Given the description of an element on the screen output the (x, y) to click on. 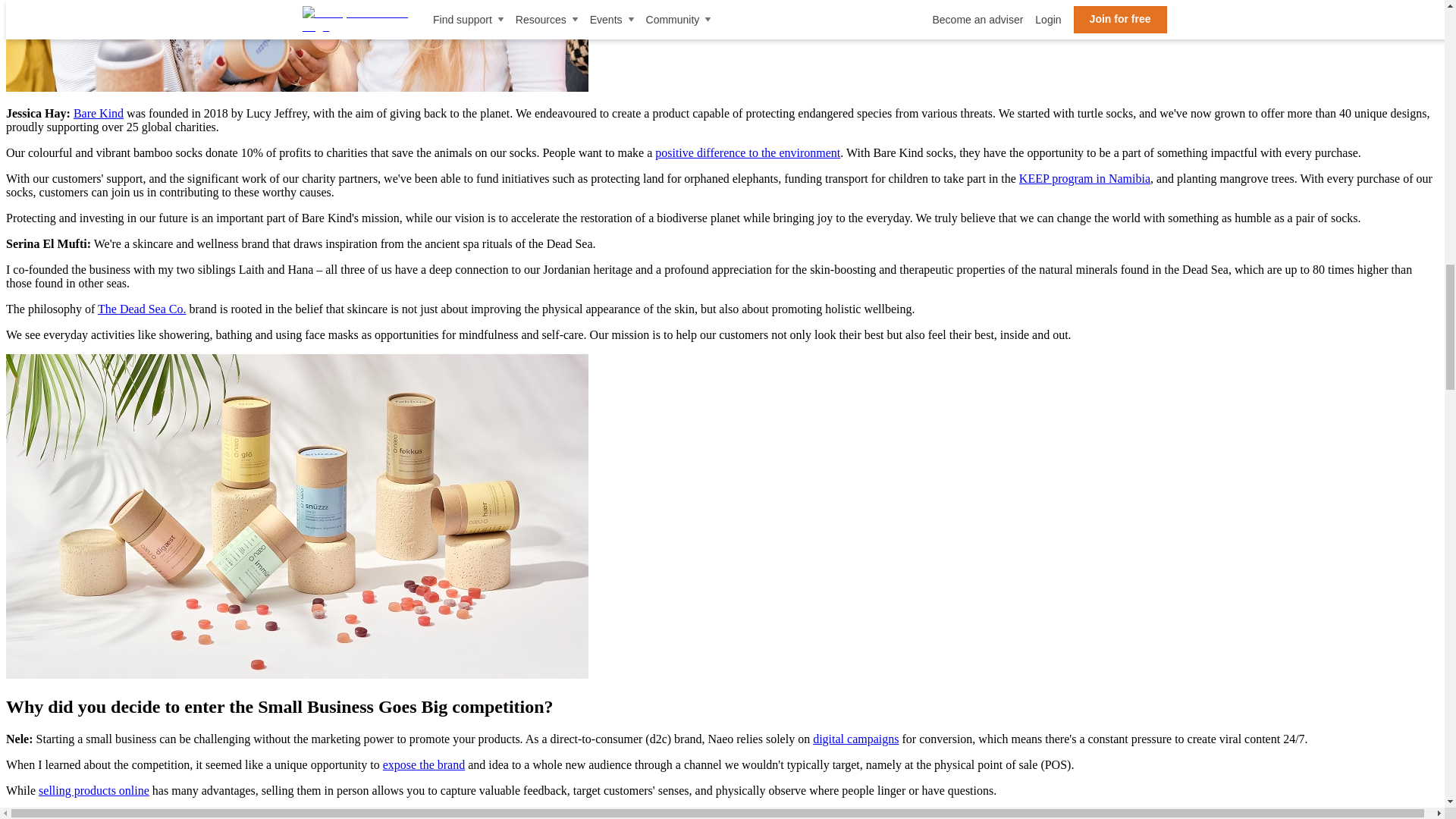
expose the brand (423, 764)
digital campaigns (855, 738)
positive difference to the environment (747, 152)
Bare Kind (98, 113)
The Dead Sea Co. (141, 308)
selling products online (94, 789)
KEEP program in Namibia (1084, 178)
